Given the description of an element on the screen output the (x, y) to click on. 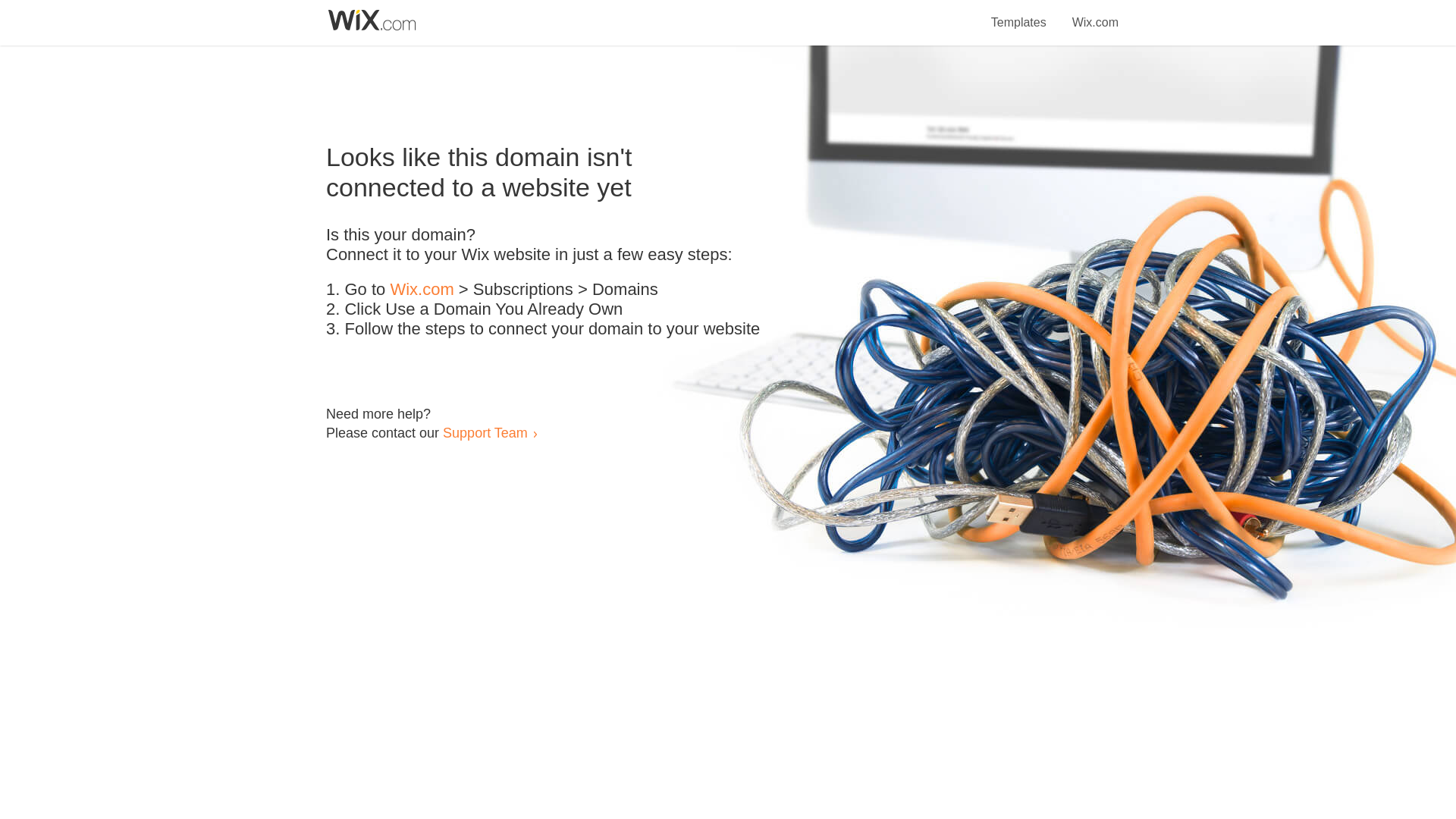
Wix.com (421, 289)
Templates (1018, 14)
Support Team (484, 432)
Wix.com (1095, 14)
